Given the description of an element on the screen output the (x, y) to click on. 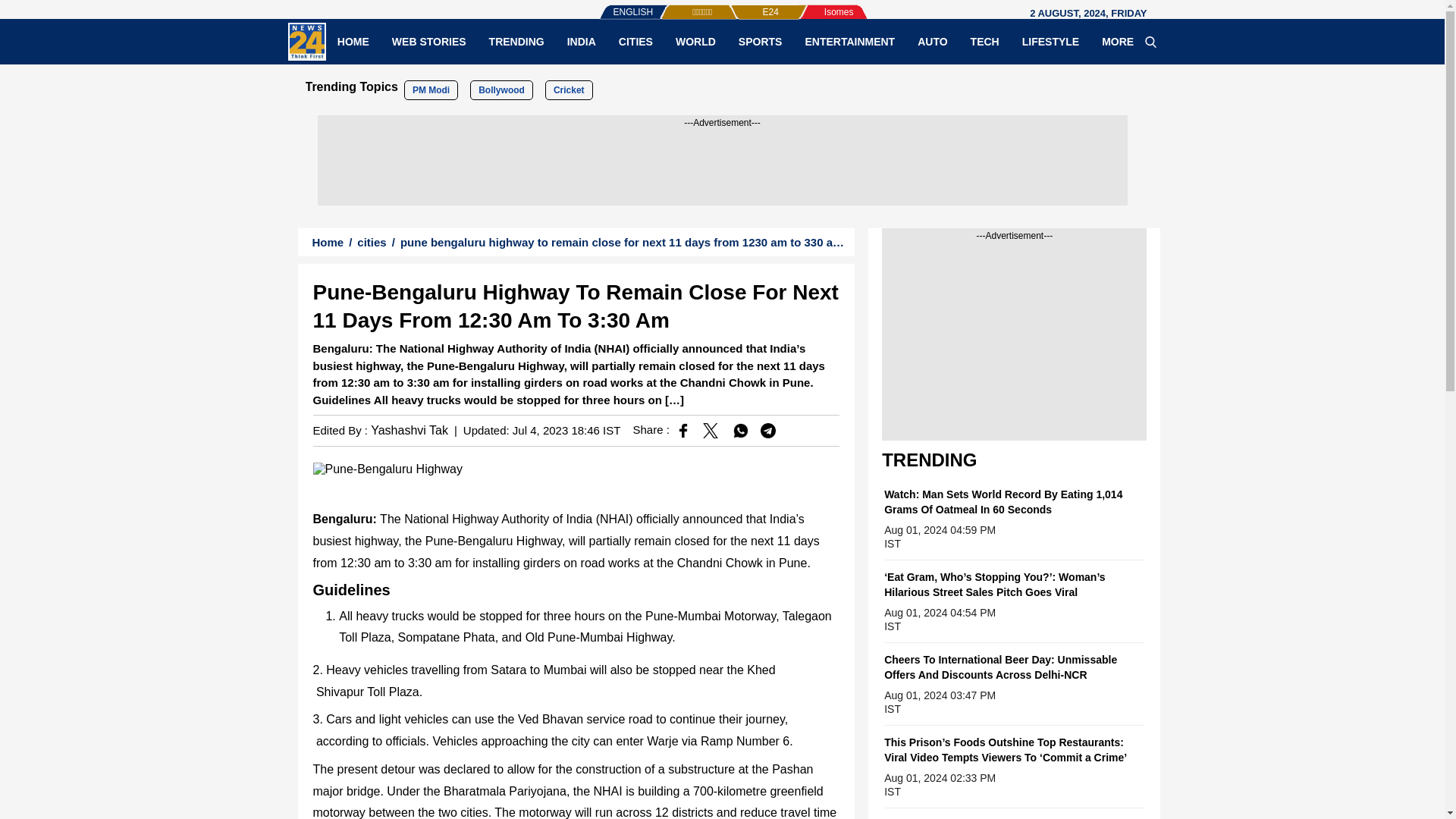
SPORTS (759, 41)
TRENDING (516, 41)
Pune-Bengaluru Highway (387, 468)
E24 (744, 4)
TECH (984, 41)
ENTERTAINMENT (849, 41)
CITIES (635, 41)
WORLD (694, 41)
INDIA (581, 41)
LIFESTYLE (1050, 41)
HOME (353, 41)
AUTO (931, 41)
Isomes (814, 4)
ENGLISH (601, 4)
WEB STORIES (428, 41)
